Given the description of an element on the screen output the (x, y) to click on. 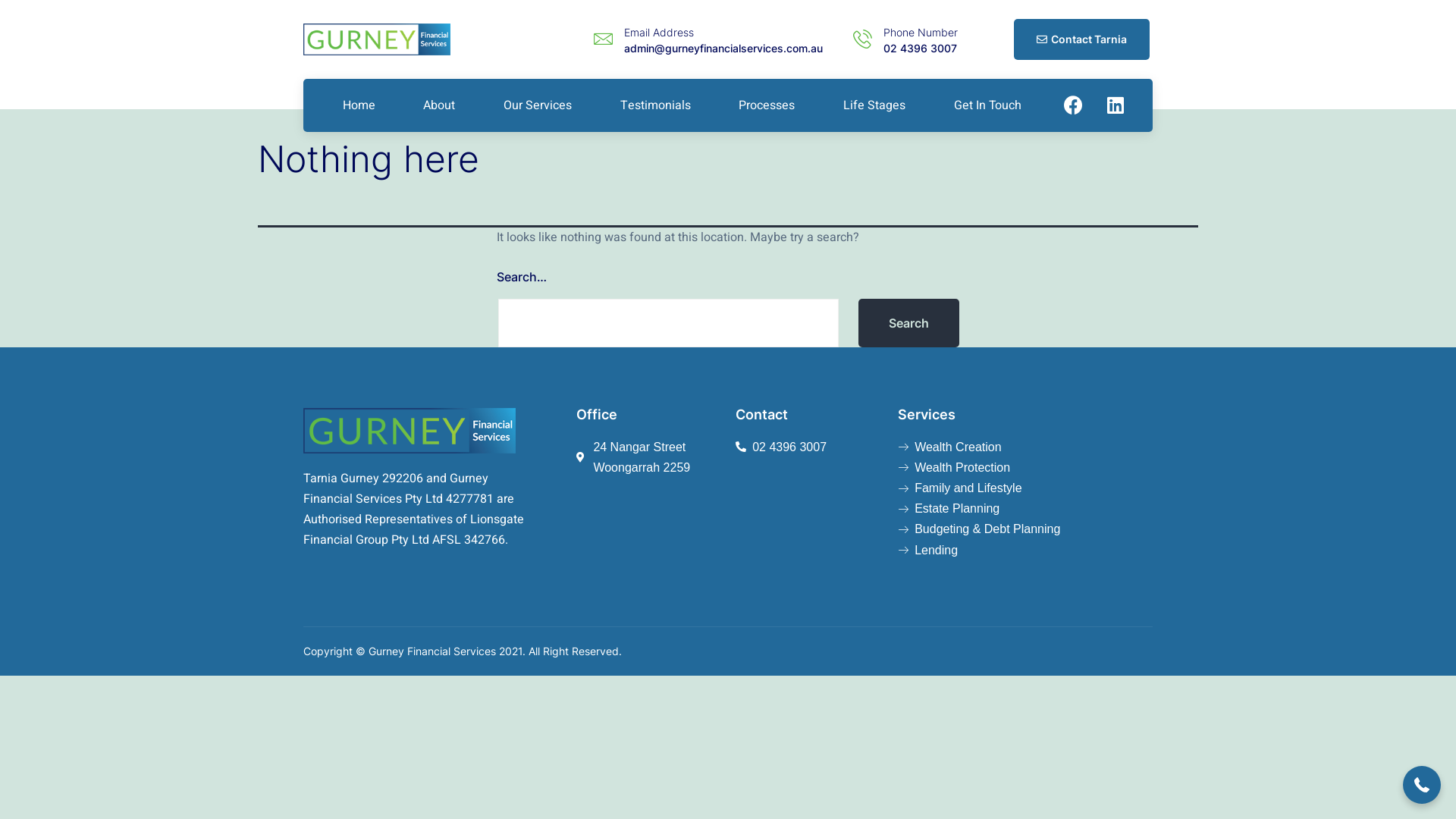
Get In Touch Element type: text (987, 104)
Testimonials Element type: text (655, 104)
About Element type: text (439, 104)
Processes Element type: text (767, 104)
Home Element type: text (358, 104)
Life Stages Element type: text (874, 104)
Our Services Element type: text (537, 104)
Search Element type: text (908, 322)
Contact Tarnia Element type: text (1081, 38)
